Given the description of an element on the screen output the (x, y) to click on. 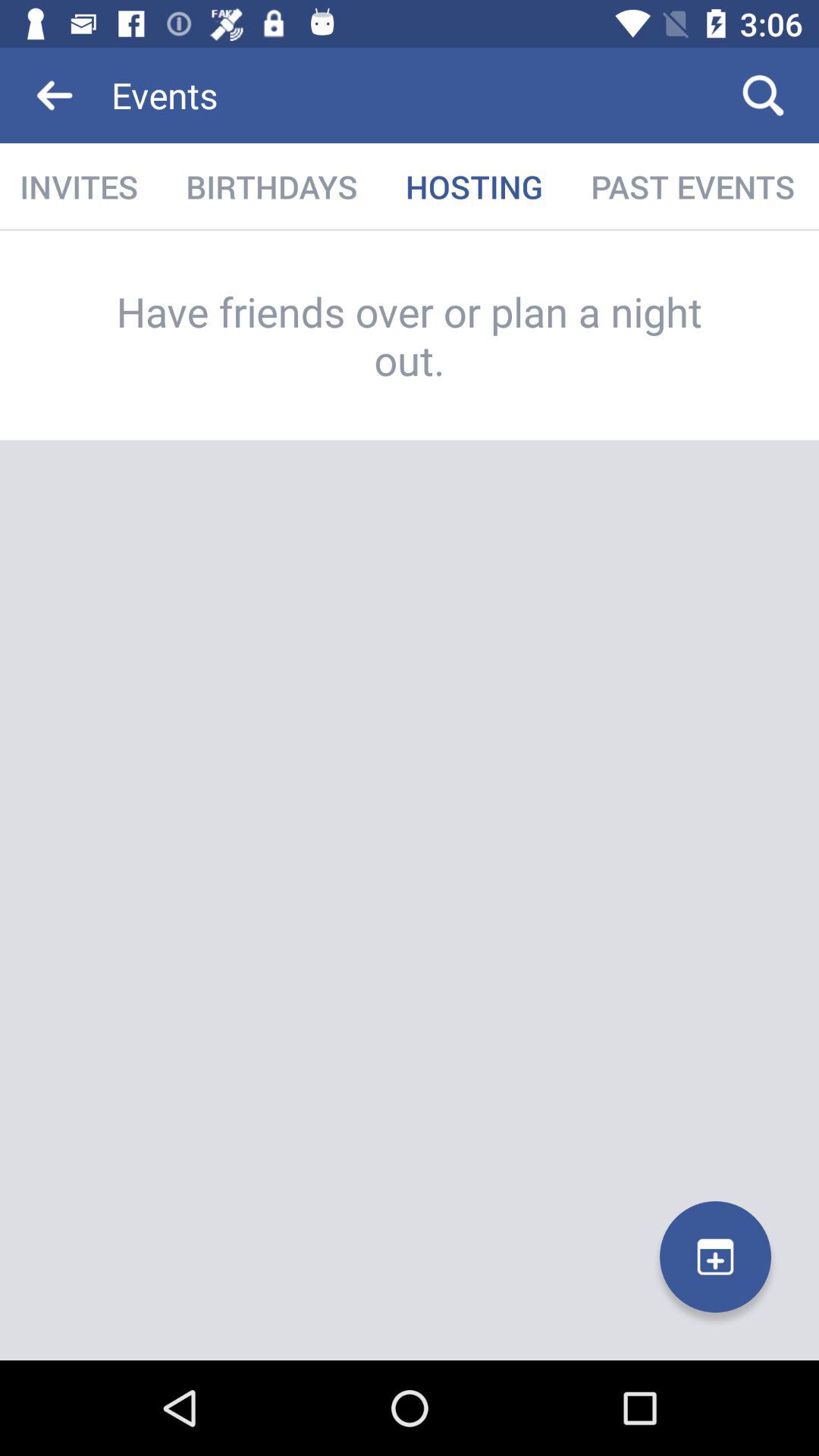
launch icon above have friends over item (693, 186)
